Given the description of an element on the screen output the (x, y) to click on. 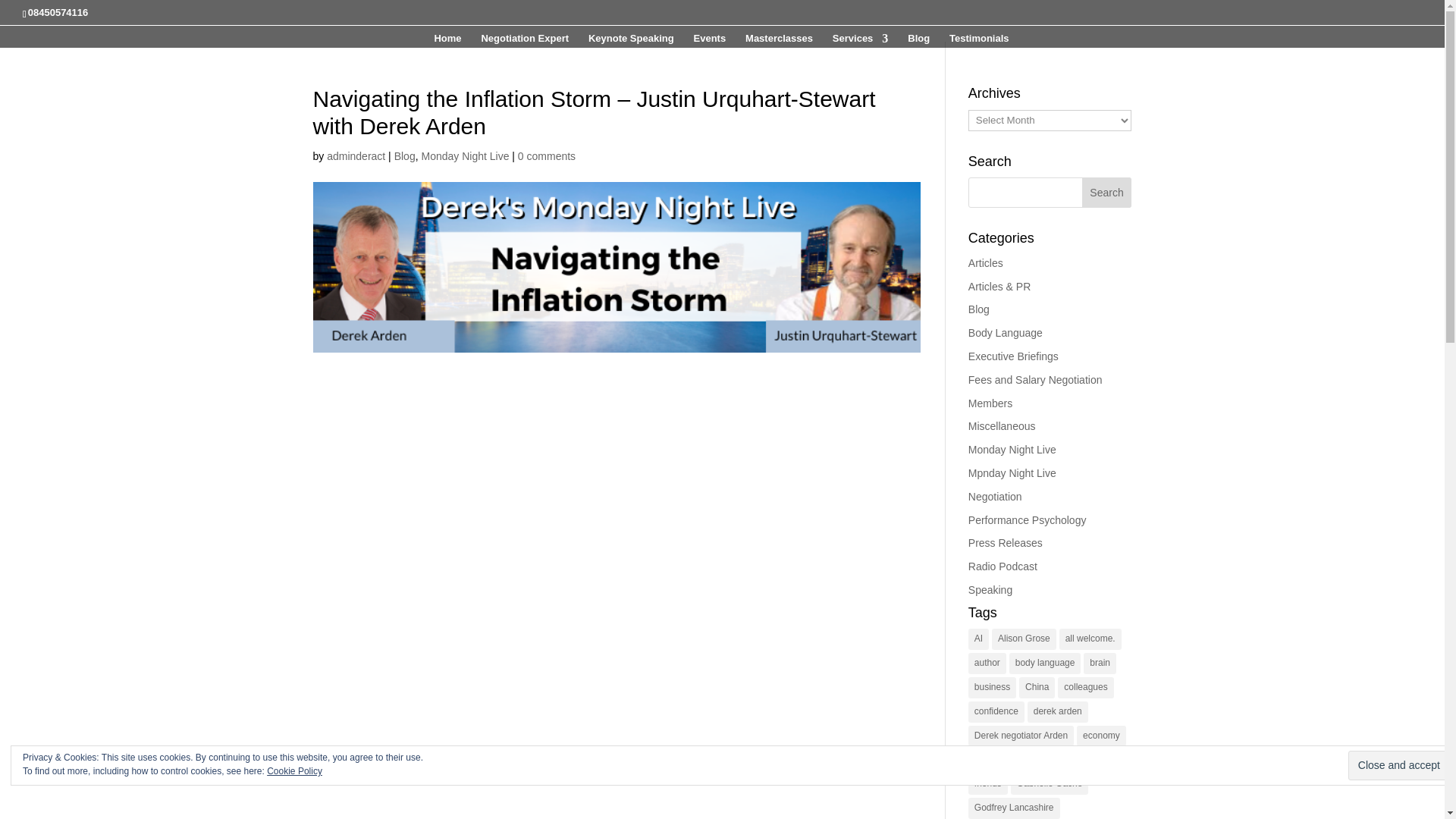
Blog (404, 155)
Speaking (989, 589)
Search (1106, 192)
all welcome. (1090, 639)
Members (989, 403)
Services (860, 40)
Executive Briefings (1013, 356)
Testimonials (979, 40)
Masterclasses (778, 40)
Miscellaneous (1001, 426)
